Given the description of an element on the screen output the (x, y) to click on. 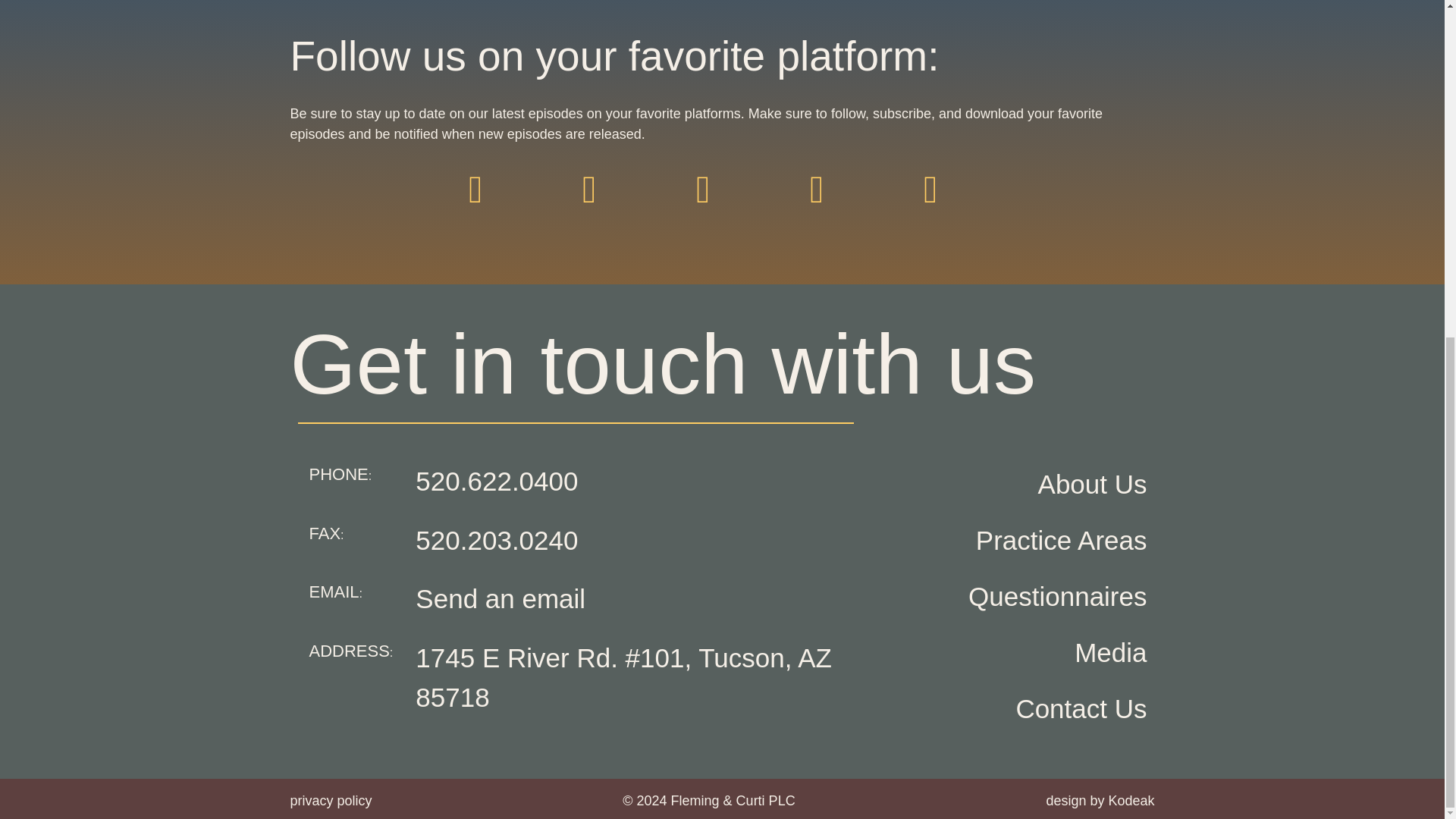
Google Play (722, 208)
Subscribe by Email (949, 208)
Spotify (608, 208)
Amazon Podcasts (835, 208)
Apple Podcasts (494, 208)
